Given the description of an element on the screen output the (x, y) to click on. 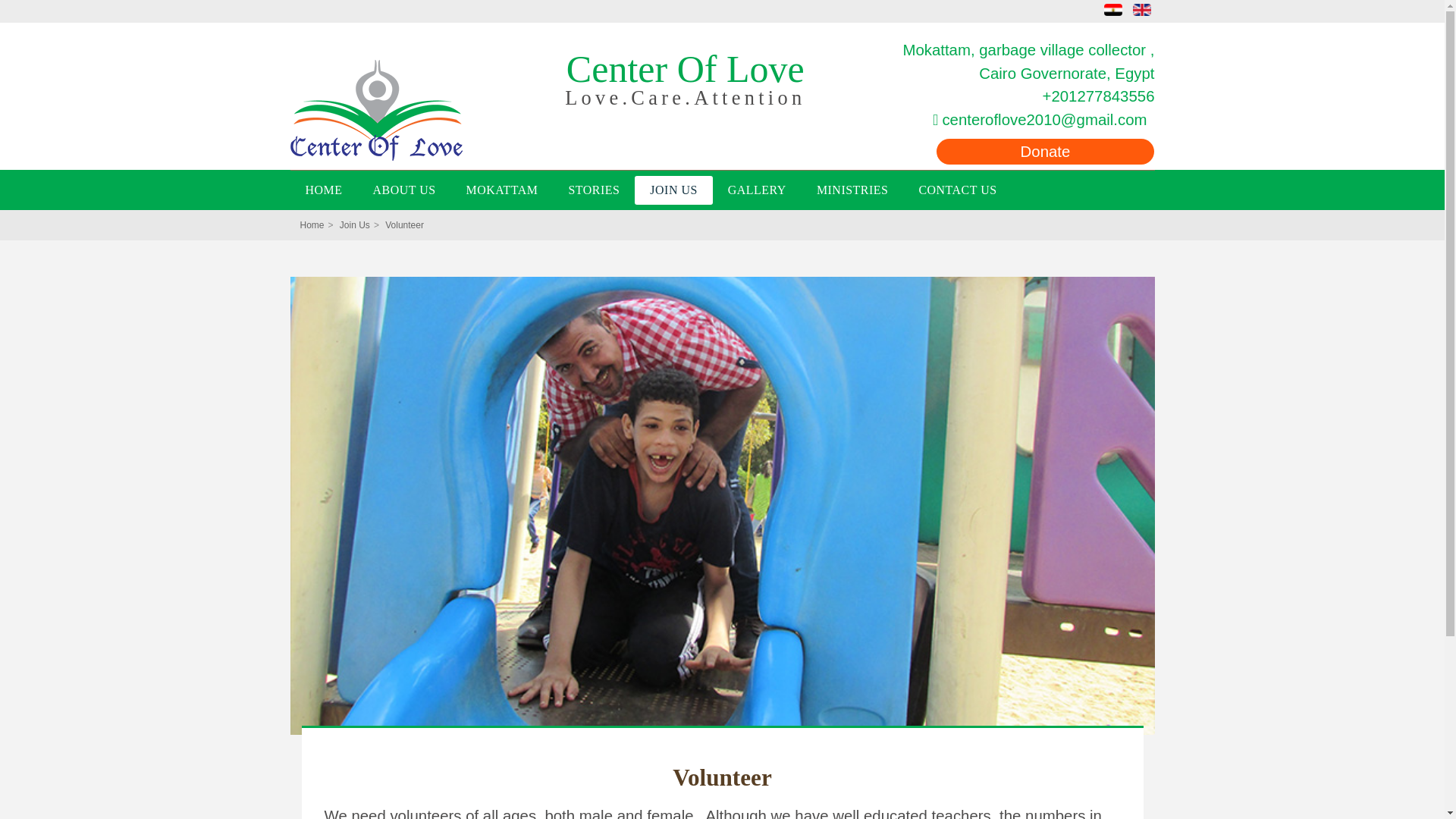
ABOUT US (402, 190)
STORIES (593, 190)
MOKATTAM (502, 190)
HOME (322, 190)
GALLERY (757, 190)
English (1141, 9)
MINISTRIES (853, 190)
JOIN US (672, 190)
Home (311, 225)
CONTACT US (956, 190)
